Given the description of an element on the screen output the (x, y) to click on. 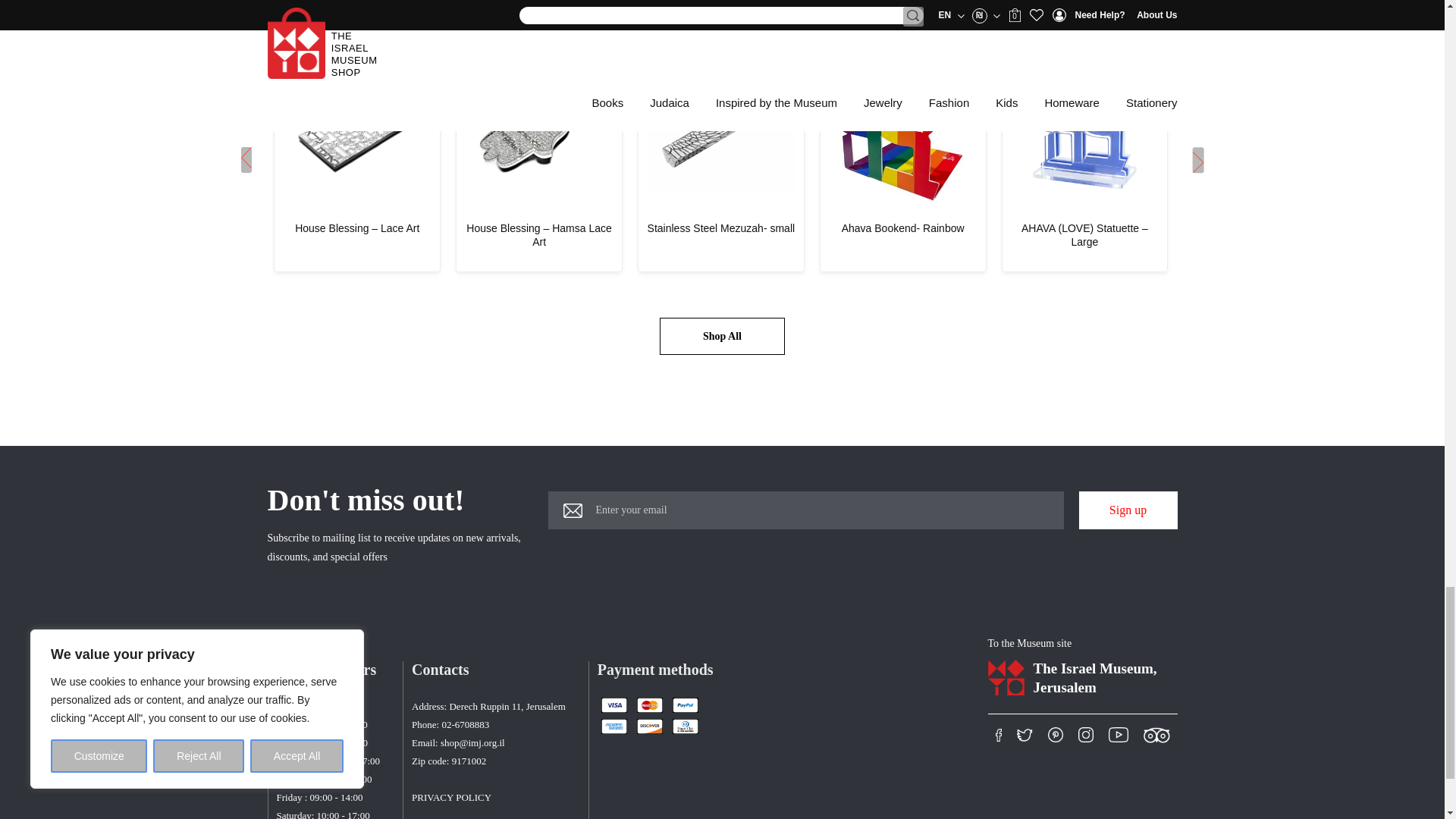
Sign up (1127, 510)
